Given the description of an element on the screen output the (x, y) to click on. 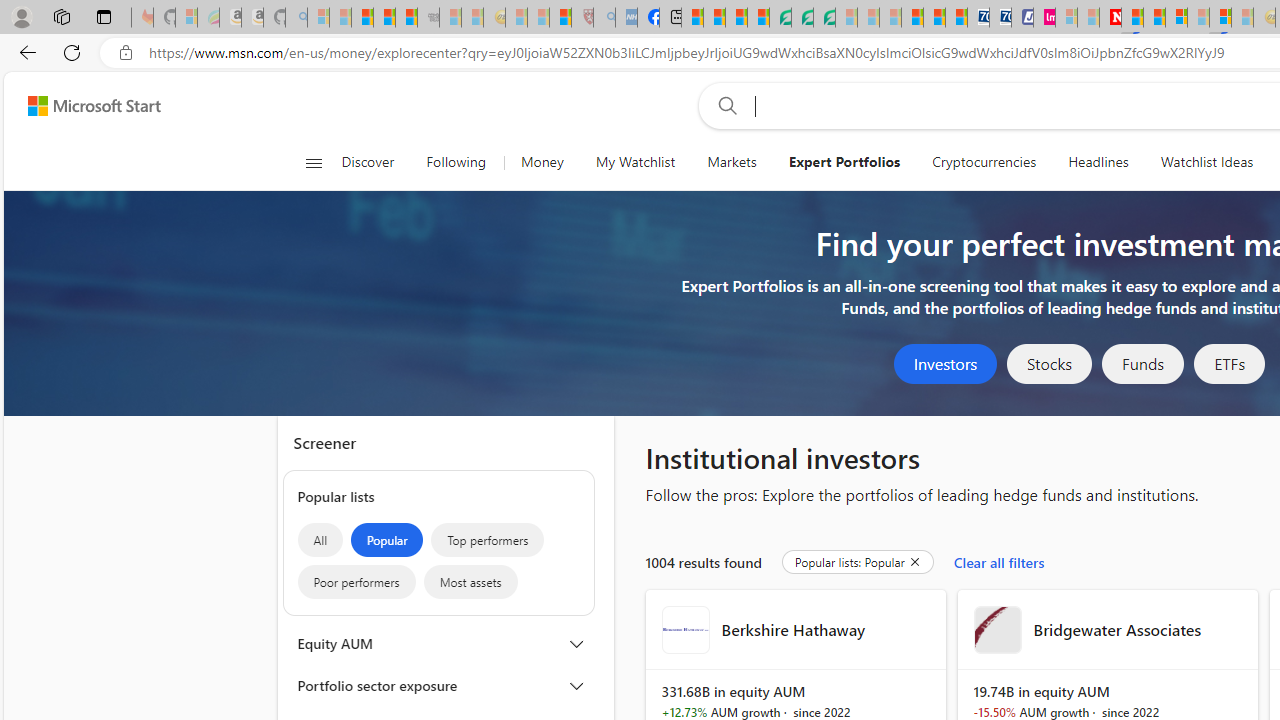
Local - MSN (560, 17)
Terms of Use Agreement (802, 17)
Most assets (470, 582)
New Report Confirms 2023 Was Record Hot | Watch (406, 17)
Cheap Hotels - Save70.com (1000, 17)
Cryptocurrencies (983, 162)
